Given the description of an element on the screen output the (x, y) to click on. 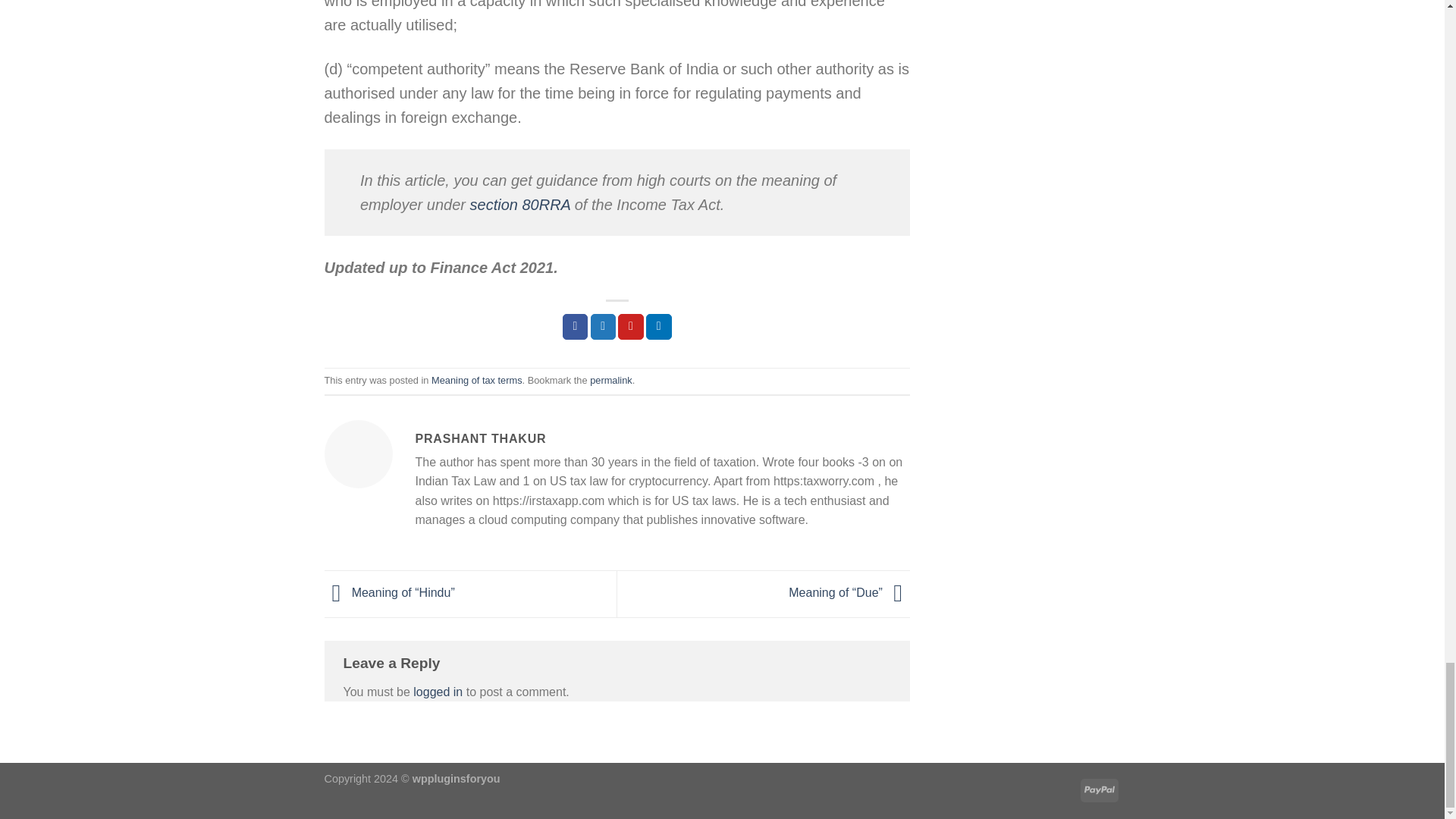
Pin on Pinterest (630, 326)
logged in (438, 691)
section 80RRA (520, 204)
Meaning of tax terms (476, 379)
Share on Twitter (603, 326)
Share on LinkedIn (658, 326)
permalink (610, 379)
Share on Facebook (575, 326)
